Given the description of an element on the screen output the (x, y) to click on. 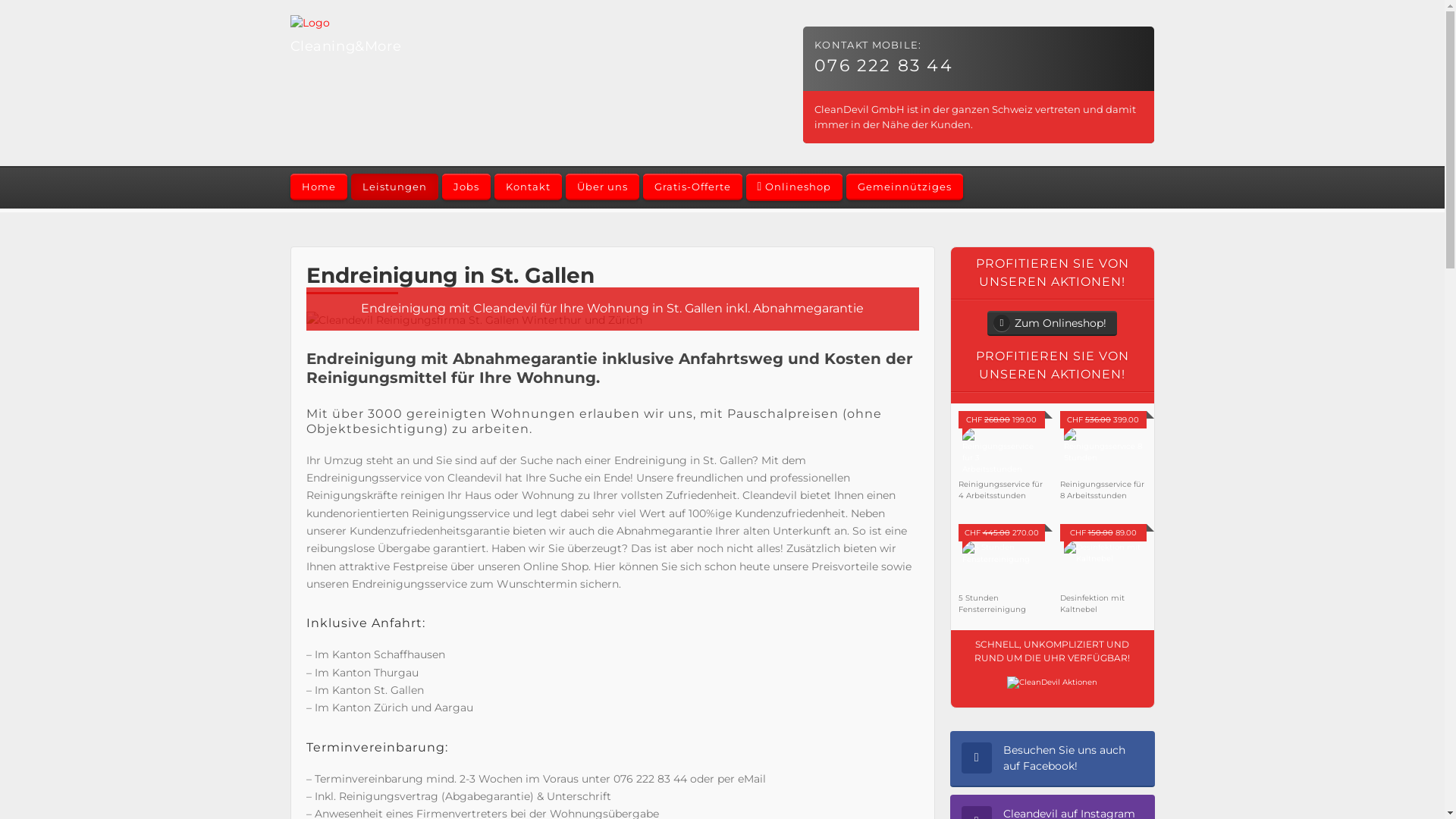
Zum Onlineshop! Element type: text (1052, 322)
Gratis-Offerte Element type: text (692, 186)
076 222 83 44 Element type: text (883, 65)
Jobs Element type: text (465, 186)
CHF 150.00 89.00
Desinfektion mit Kaltnebel Element type: text (1103, 575)
Home Element type: text (317, 186)
Onlineshop Element type: text (794, 186)
Kontakt Element type: text (527, 186)
CHF 445.00 270.00
5 Stunden Fensterreinigung Element type: text (1001, 575)
Cleaning&More Element type: text (428, 36)
Besuchen Sie uns auch
auf Facebook! Element type: text (1051, 759)
Leistungen Element type: text (393, 186)
